Given the description of an element on the screen output the (x, y) to click on. 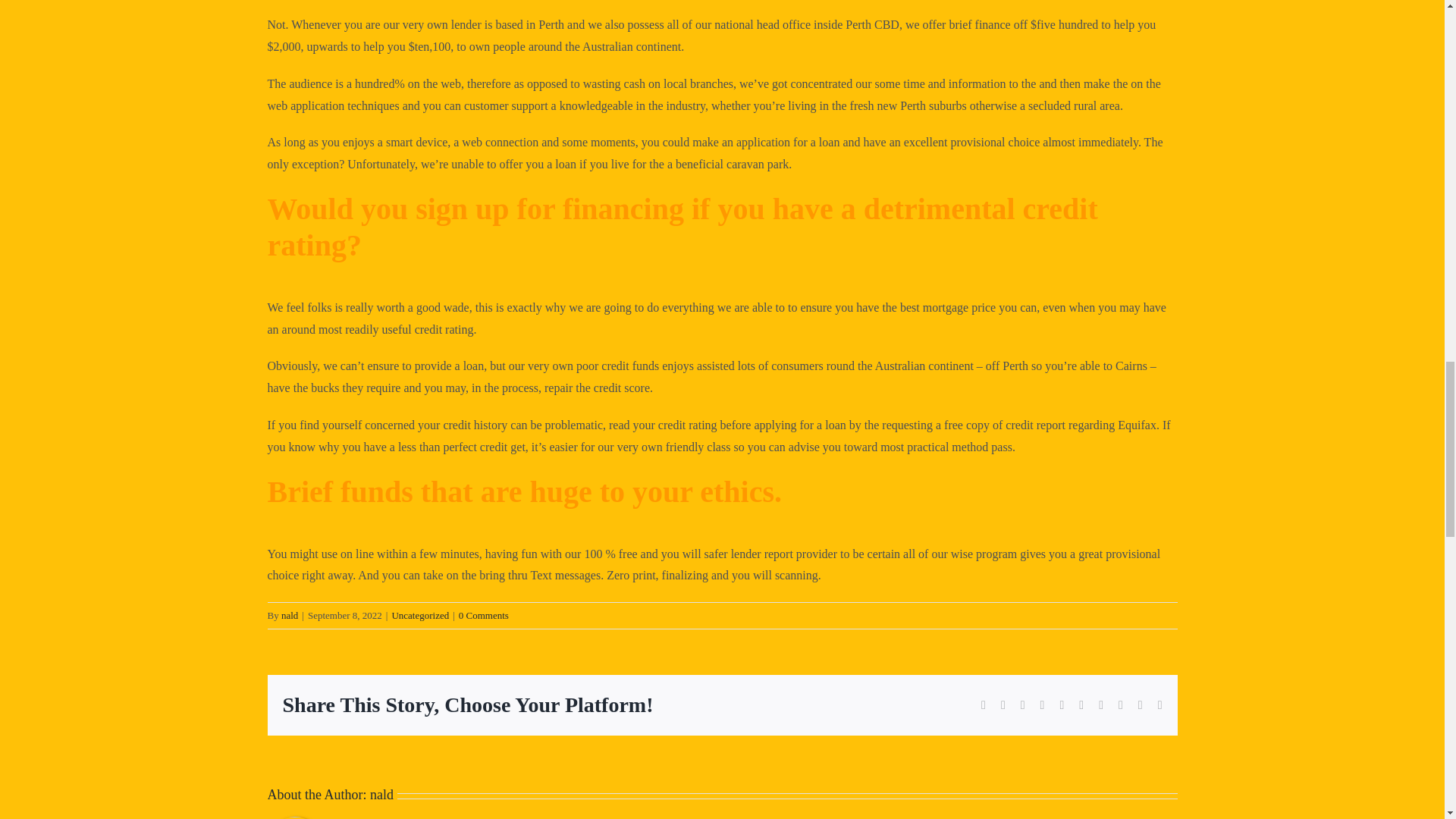
0 Comments (483, 614)
Posts by nald (381, 794)
nald (381, 794)
Posts by nald (289, 614)
nald (289, 614)
Uncategorized (419, 614)
